Given the description of an element on the screen output the (x, y) to click on. 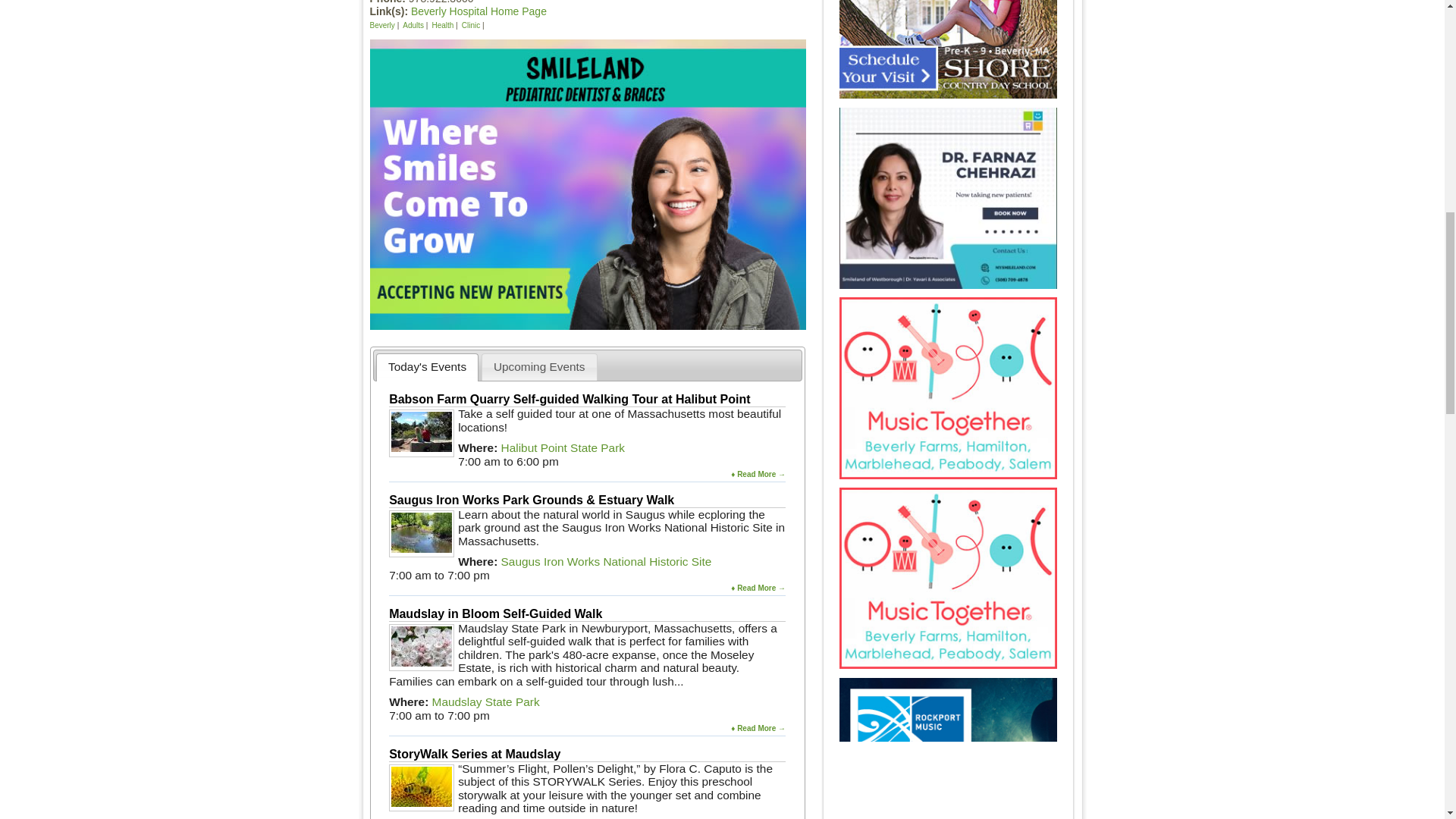
Upcoming Events (538, 366)
Adults (413, 25)
Halibut Point State Park (562, 447)
Maudslay State Park (486, 701)
Health (441, 25)
Saugus Iron Works National Historic Site (605, 561)
Beverly (381, 25)
Maudslay in Bloom Self-Guided Walk (495, 613)
Today's Events (428, 366)
StoryWalk Series at Maudslay (474, 753)
